Given the description of an element on the screen output the (x, y) to click on. 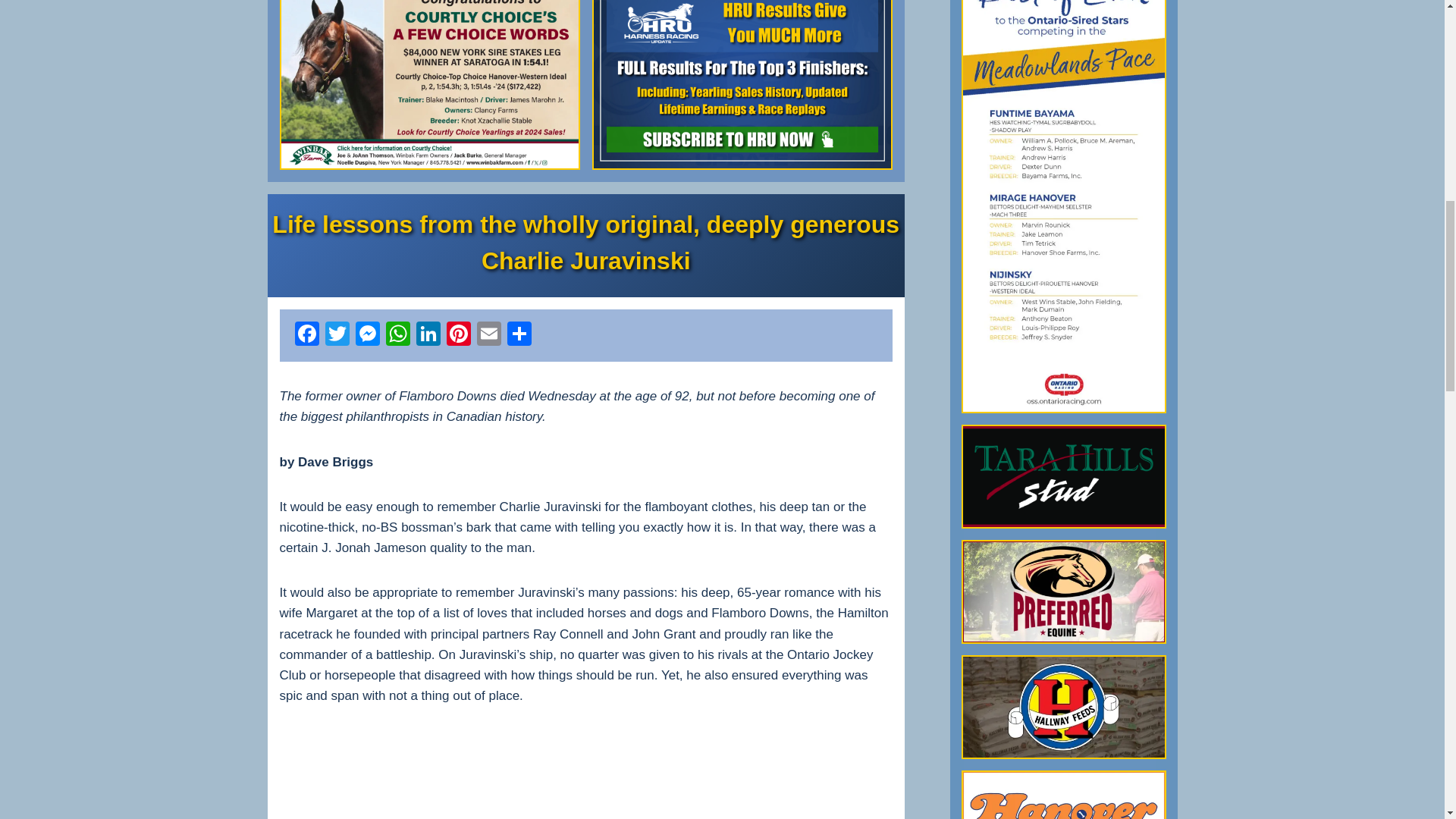
Facebook (306, 335)
WhatsApp (396, 335)
LinkedIn (427, 335)
Facebook (306, 335)
Messenger (366, 335)
Pinterest (457, 335)
Twitter (336, 335)
Email (488, 335)
